Given the description of an element on the screen output the (x, y) to click on. 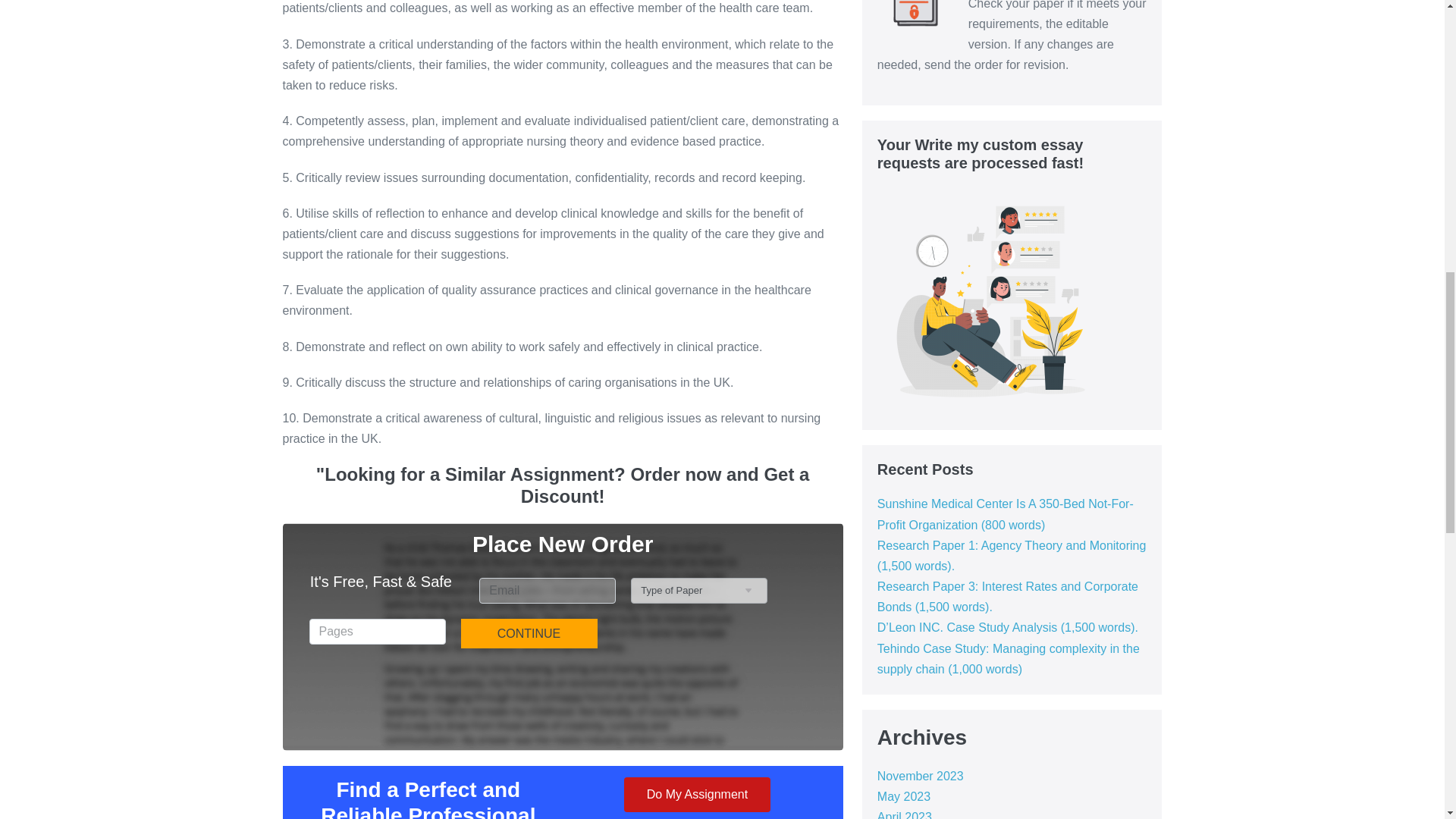
May 2023 (903, 796)
CONTINUE (528, 633)
April 2023 (904, 814)
Do My Assignment (697, 794)
November 2023 (920, 775)
